Given the description of an element on the screen output the (x, y) to click on. 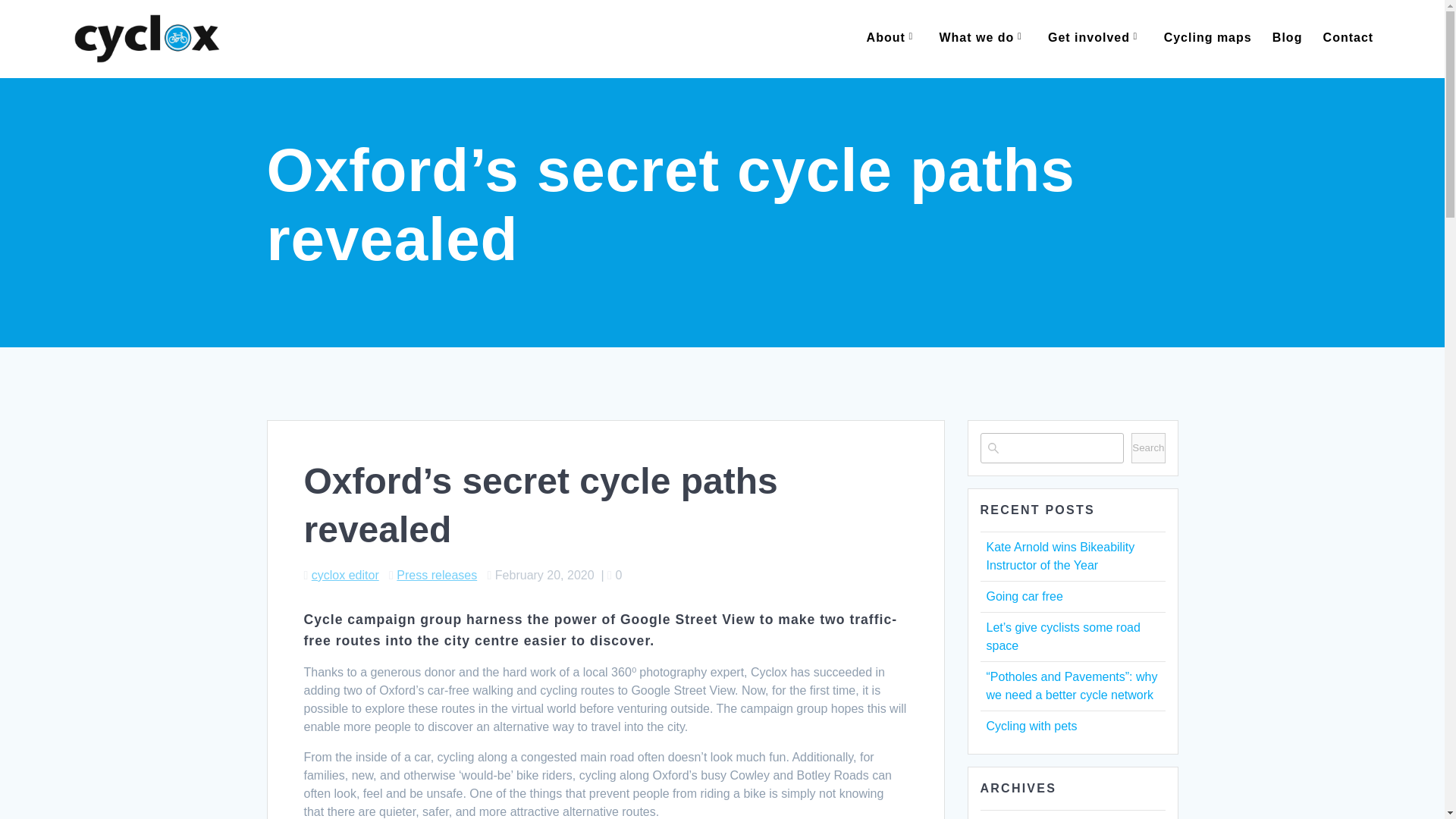
Blog (1287, 38)
Kate Arnold wins Bikeability Instructor of the Year (1059, 555)
About (892, 38)
Contact (1348, 38)
Search (1147, 448)
Cycling maps (1207, 38)
What we do (982, 38)
Going car free (1023, 595)
Press releases (436, 574)
Cycling with pets (1031, 725)
Posts by cyclox editor (344, 574)
cyclox editor (344, 574)
Get involved (1095, 38)
